Given the description of an element on the screen output the (x, y) to click on. 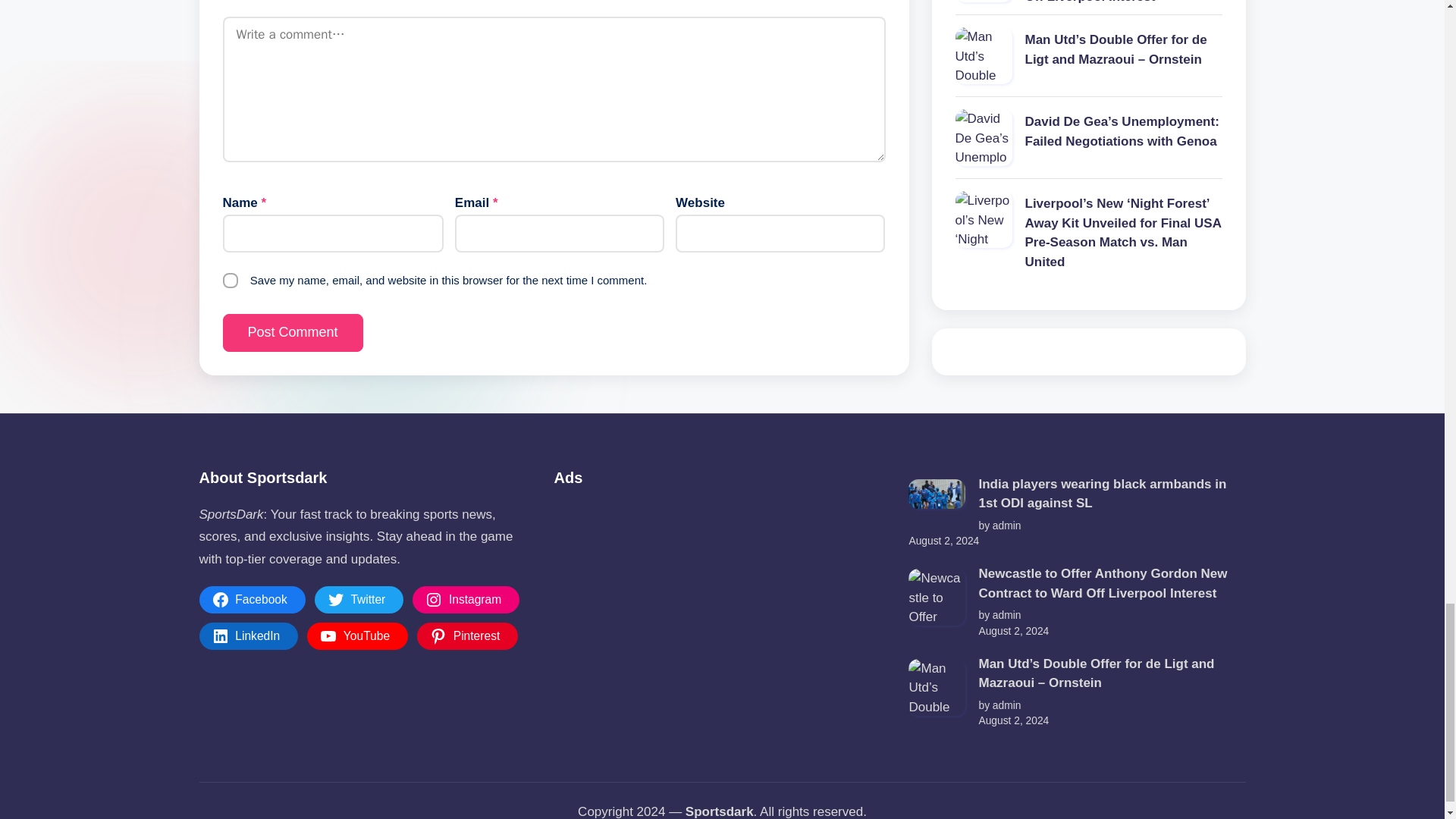
Post Comment (292, 332)
Instagram (465, 599)
Facebook (251, 599)
India players wearing black armbands in 1st ODI against SL (936, 493)
Post Comment (292, 332)
yes (230, 280)
Twitter (359, 599)
